Given the description of an element on the screen output the (x, y) to click on. 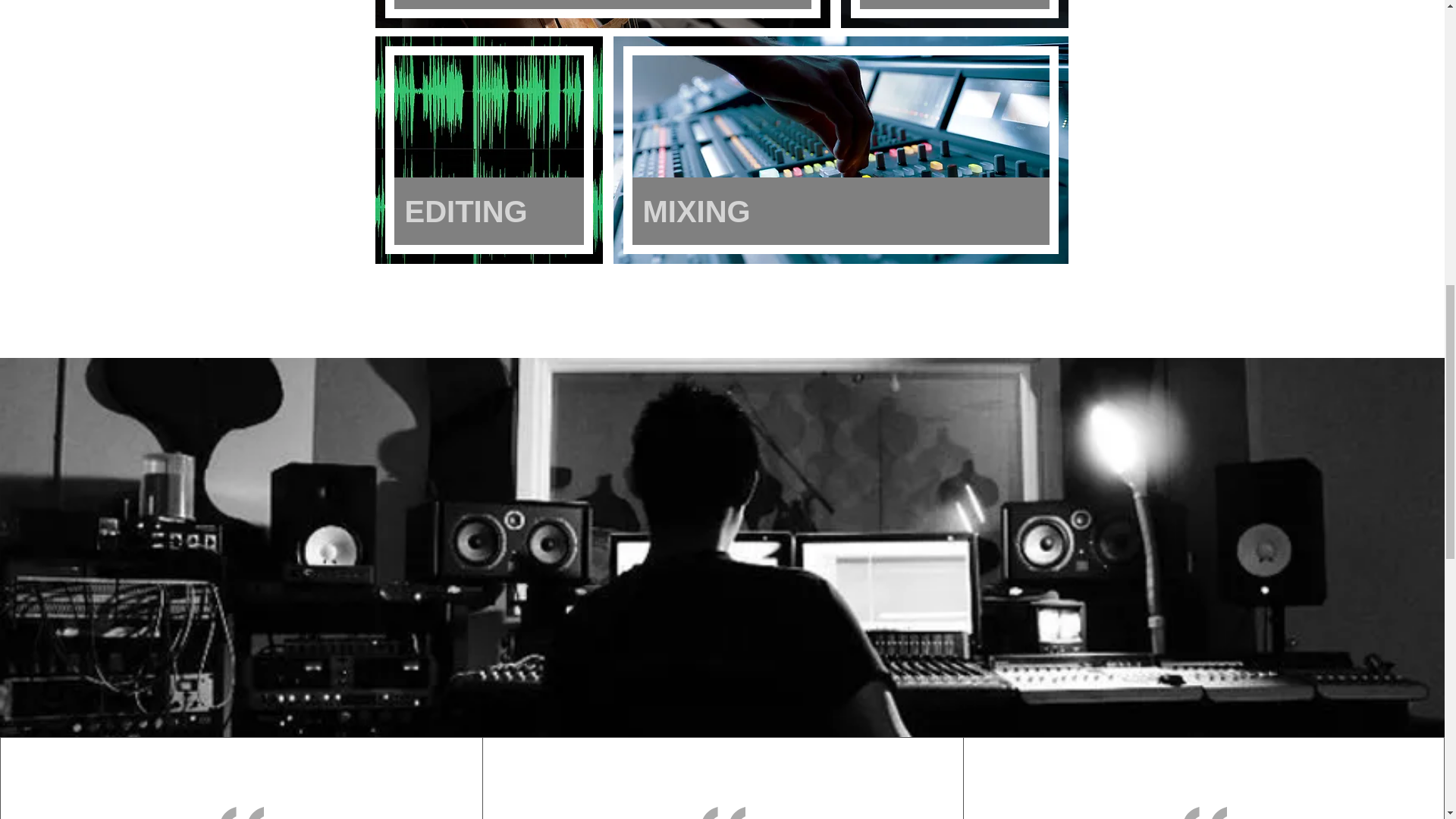
EDITING (488, 210)
FILM POST (954, 4)
COMPOSITION (602, 4)
MIXING (840, 210)
